Given the description of an element on the screen output the (x, y) to click on. 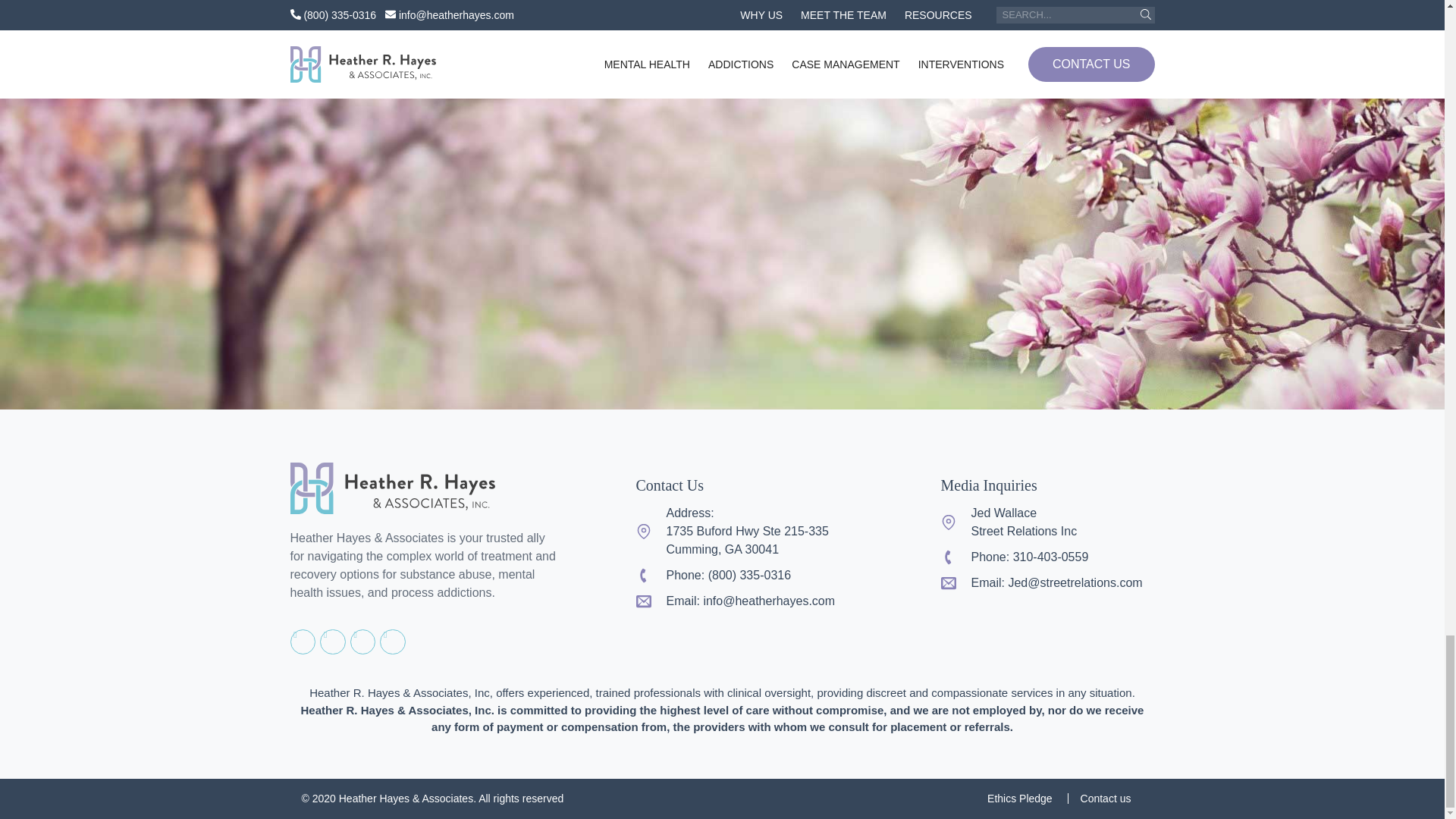
Phone: 310-403-0559 (1045, 556)
Contact us (1104, 798)
Ethics Pledge (1019, 798)
